Given the description of an element on the screen output the (x, y) to click on. 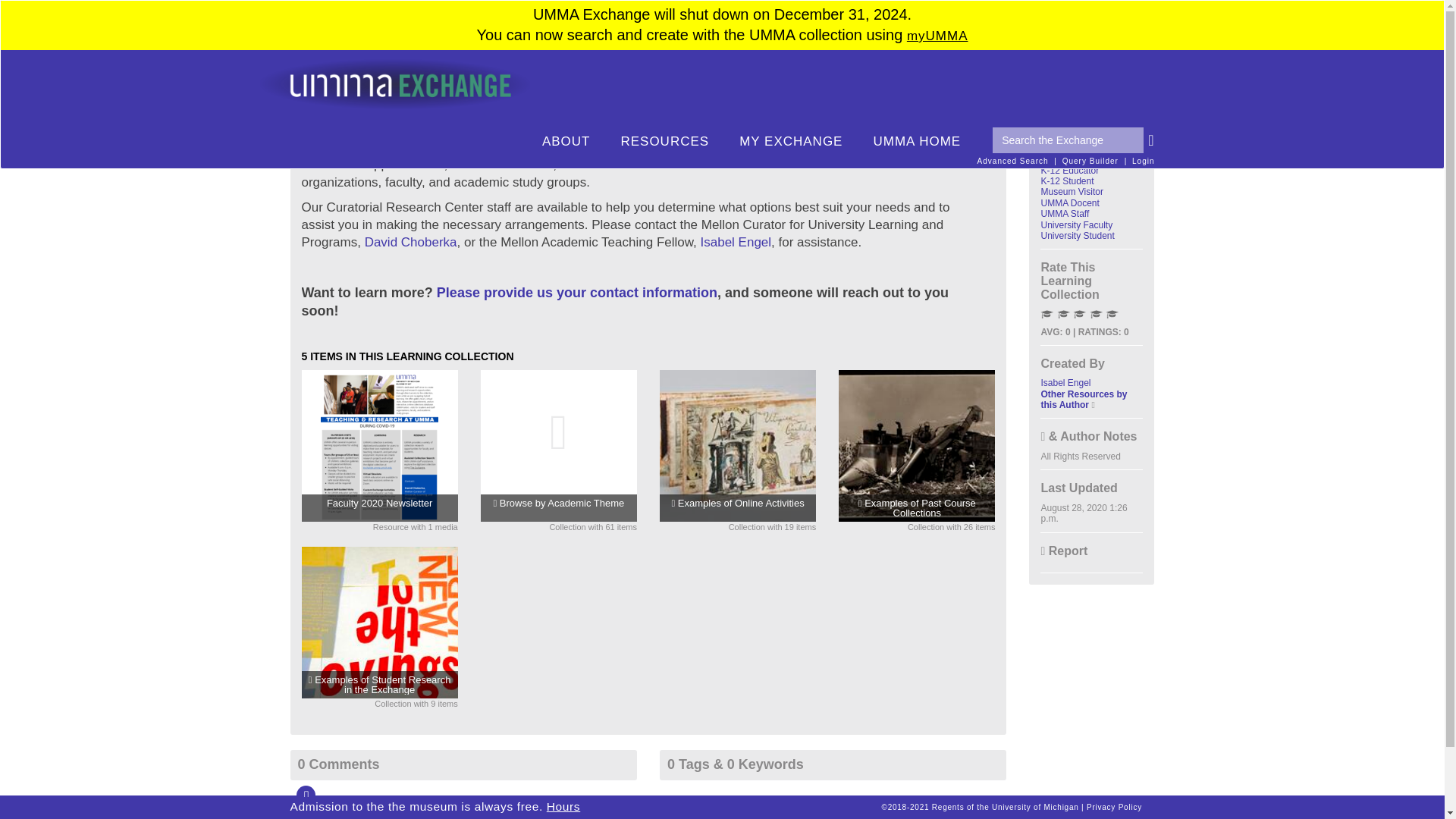
Isabel Engel (735, 242)
MY EXCHANGE (790, 141)
Login (1143, 161)
Browse by Academic Theme (558, 507)
myUMMA (937, 35)
Examples of Online Activities (737, 507)
Query Builder (1090, 161)
David Choberka (411, 242)
RESOURCES (664, 141)
Please provide us your contact information (576, 292)
ABOUT (566, 141)
Faculty 2020 Newsletter (378, 507)
UMMA HOME (916, 141)
Advanced Search (1012, 161)
